Given the description of an element on the screen output the (x, y) to click on. 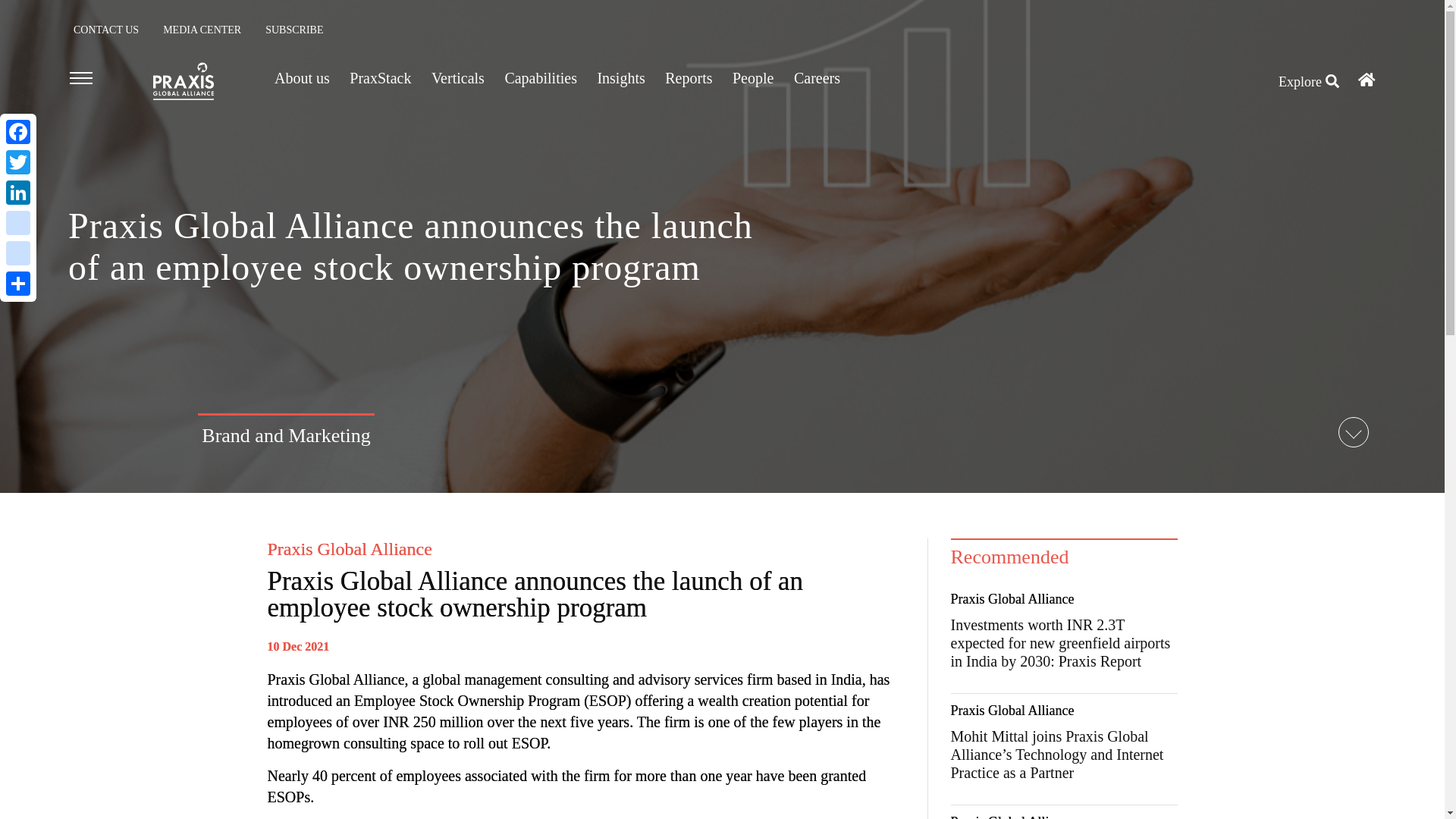
SUBSCRIBE (294, 29)
Careers  (818, 77)
CONTACT US (105, 29)
About us (302, 77)
Insights (620, 77)
MEDIA CENTER (201, 29)
Capabilities (539, 77)
PraxStack (379, 77)
Verticals (457, 77)
People (752, 77)
